Given the description of an element on the screen output the (x, y) to click on. 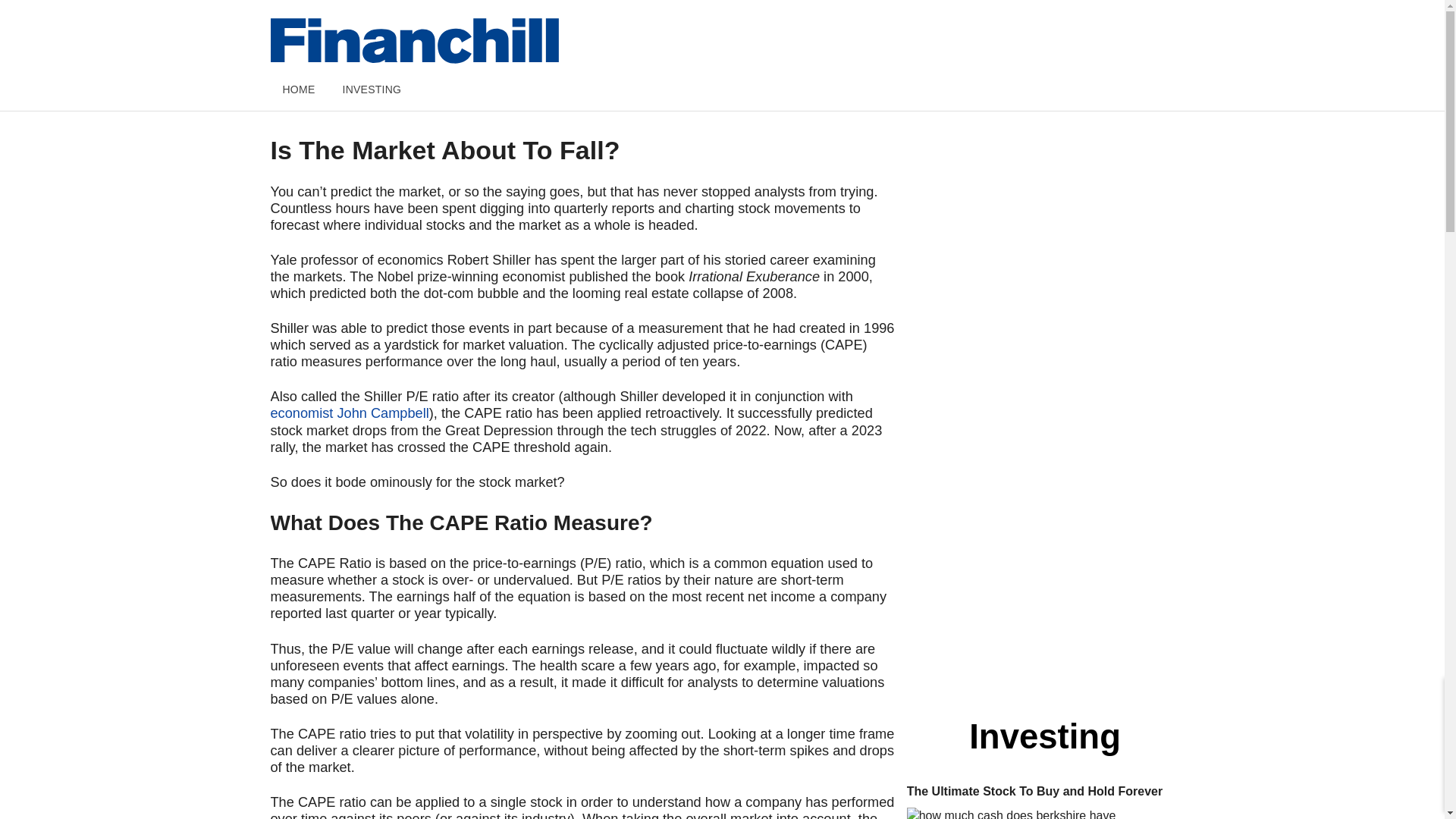
The Ultimate Stock To Buy and Hold Forever (1045, 791)
The Ultimate Stock To Buy and Hold Forever (1045, 813)
HOME (297, 88)
economist John Campbell (348, 412)
INVESTING (371, 88)
